Given the description of an element on the screen output the (x, y) to click on. 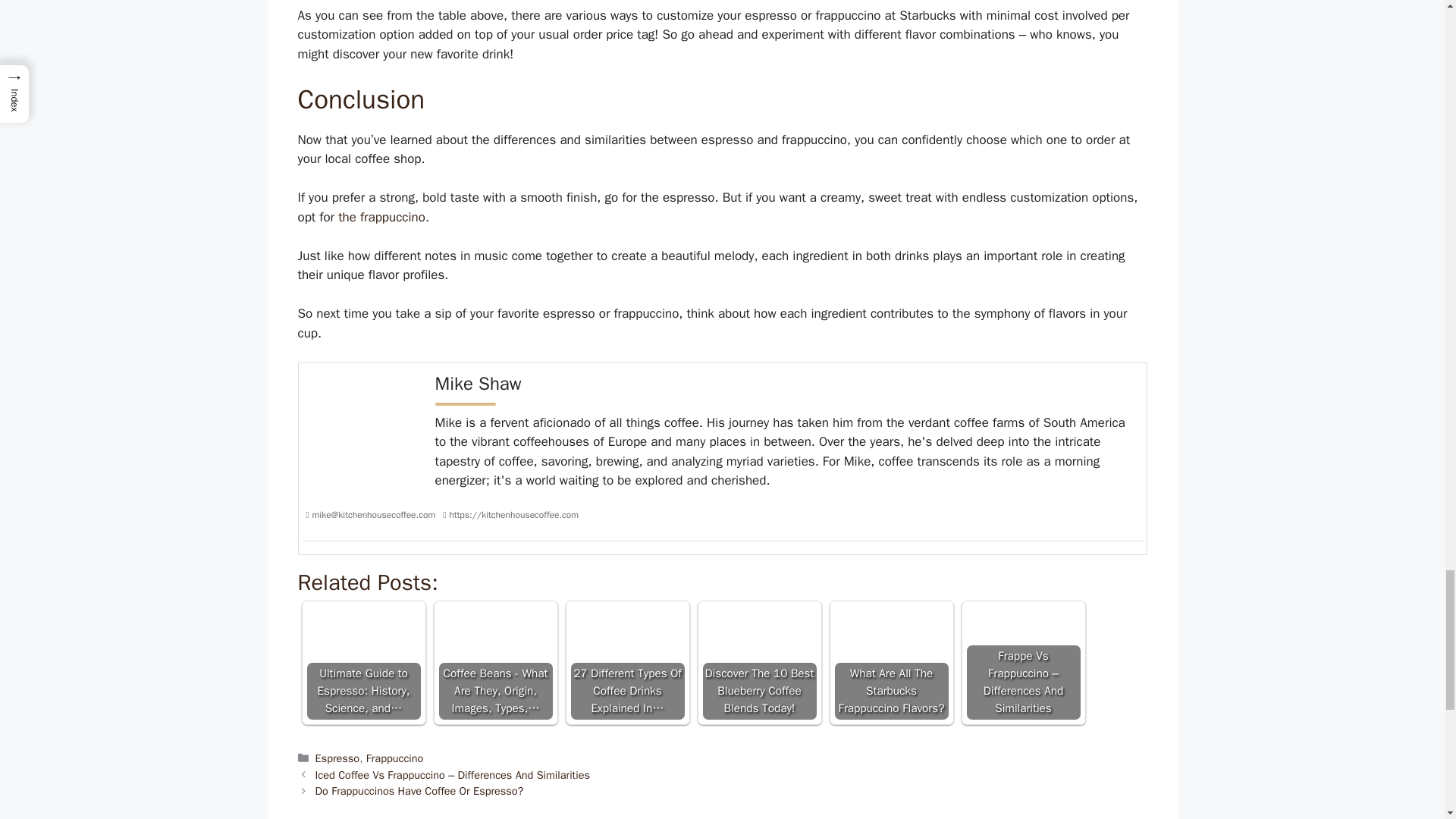
the frappuccino (381, 217)
Discover The 10 Best Blueberry Coffee Blends Today! (758, 637)
What Are All The Starbucks Frappuccino Flavors? (890, 637)
